Given the description of an element on the screen output the (x, y) to click on. 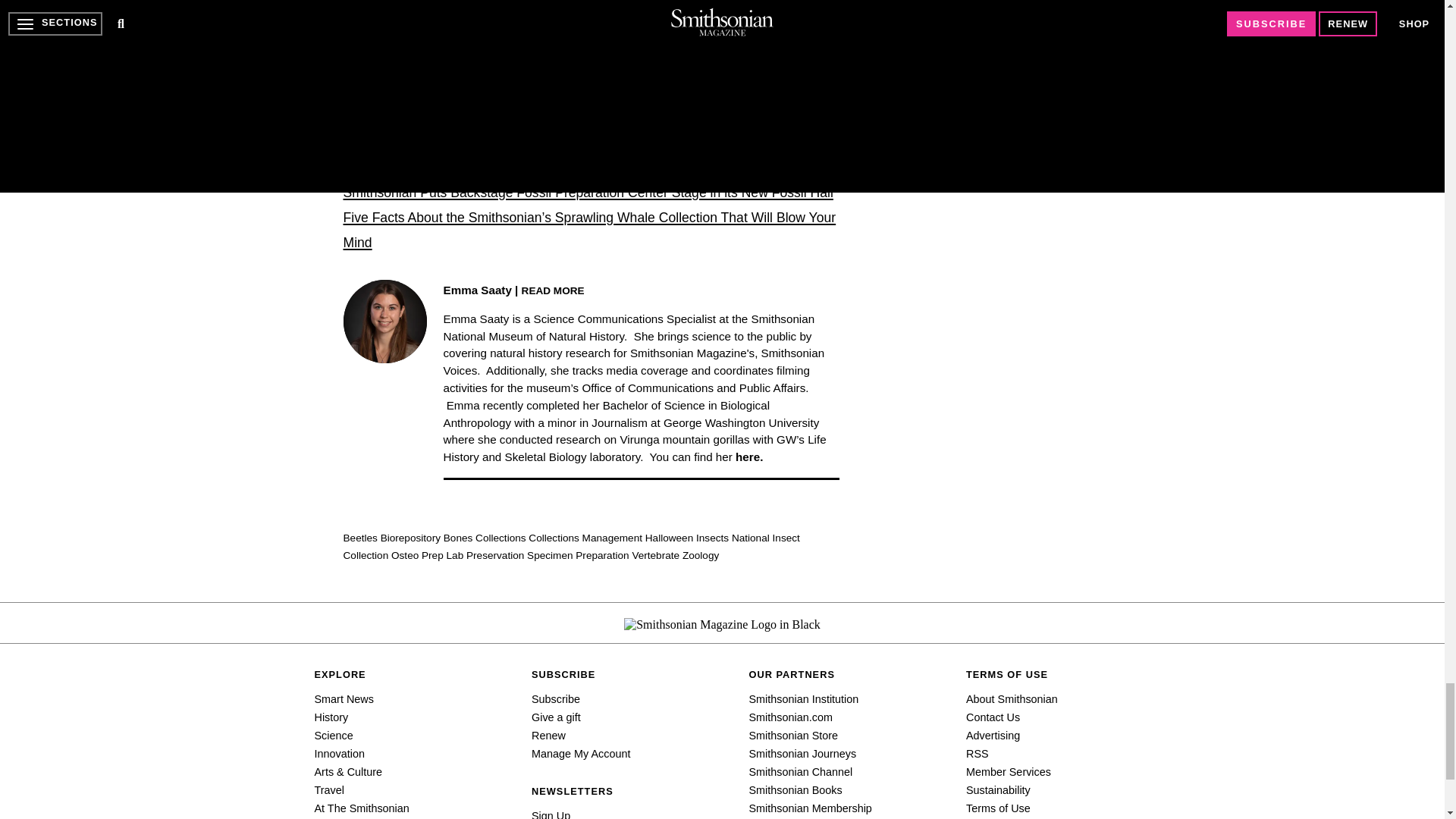
Read more from this author (553, 289)
